Given the description of an element on the screen output the (x, y) to click on. 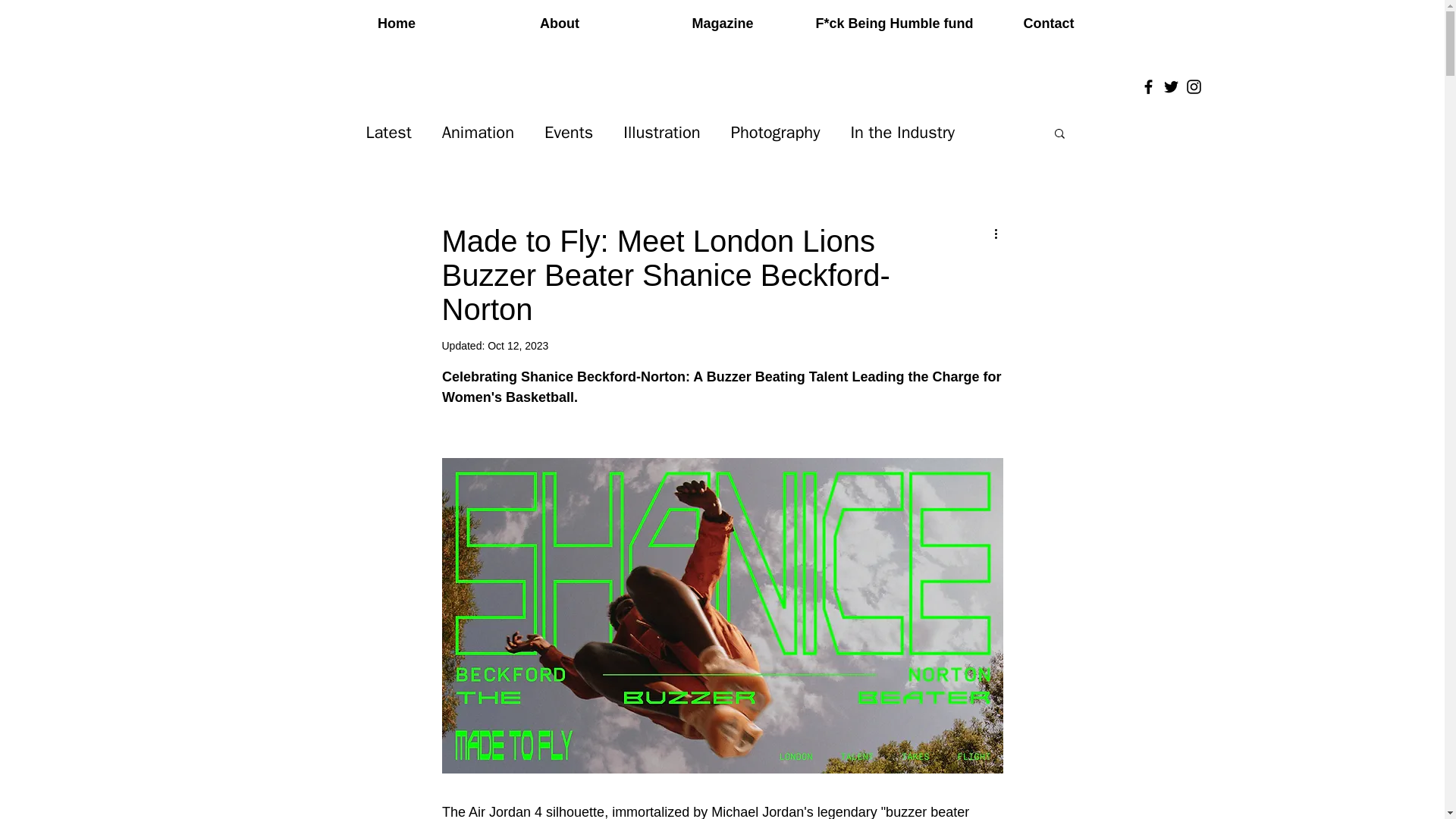
Oct 12, 2023 (517, 345)
In the Industry (902, 132)
About (558, 23)
Home (397, 23)
Animation (477, 132)
Events (568, 132)
Latest (387, 132)
Photography (775, 132)
Illustration (661, 132)
Contact (1049, 23)
